Given the description of an element on the screen output the (x, y) to click on. 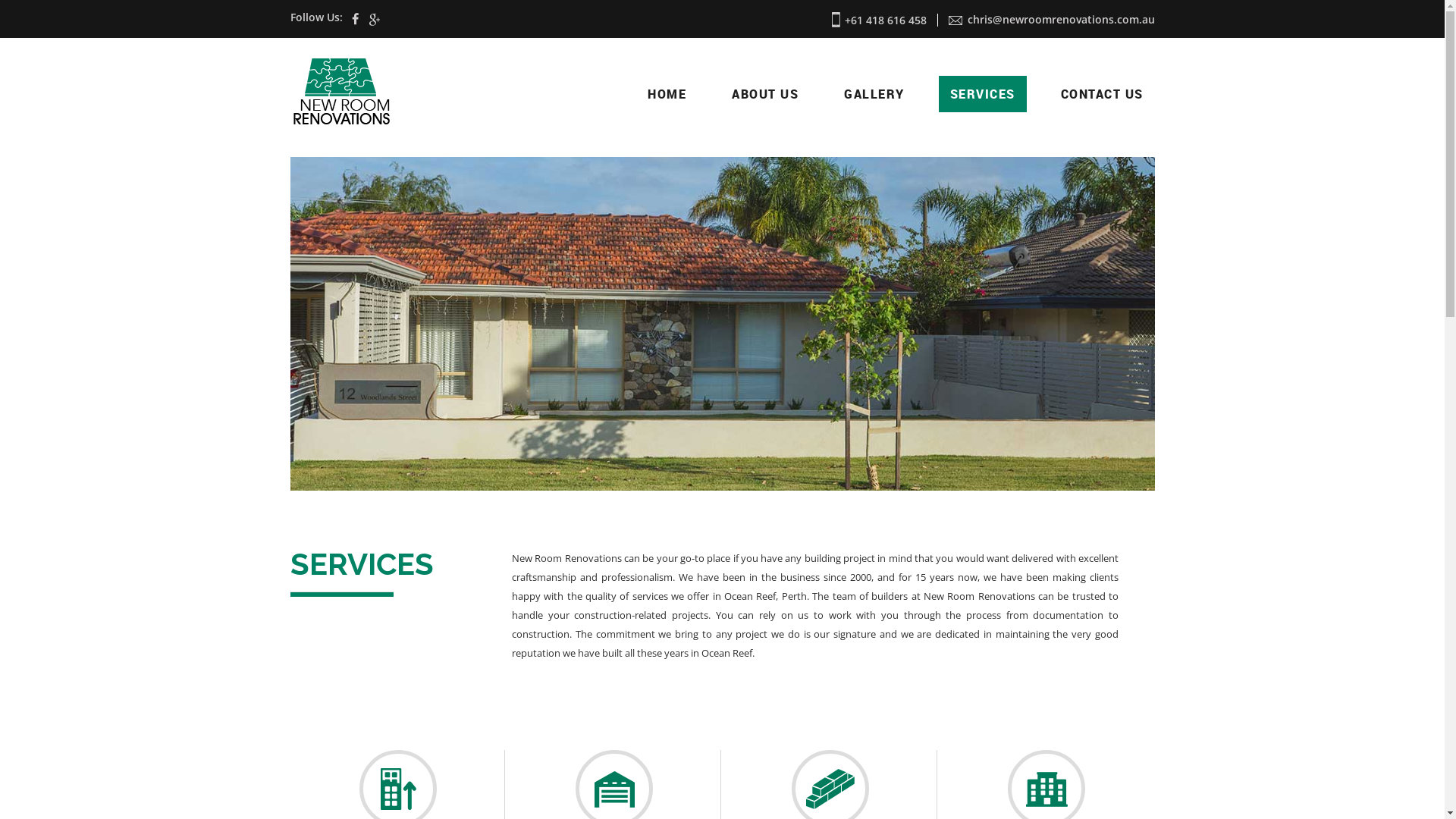
CONTACT US Element type: text (1101, 93)
SERVICES Element type: text (982, 93)
GALLERY Element type: text (874, 93)
ABOUT US Element type: text (764, 93)
HOME Element type: text (666, 93)
